Given the description of an element on the screen output the (x, y) to click on. 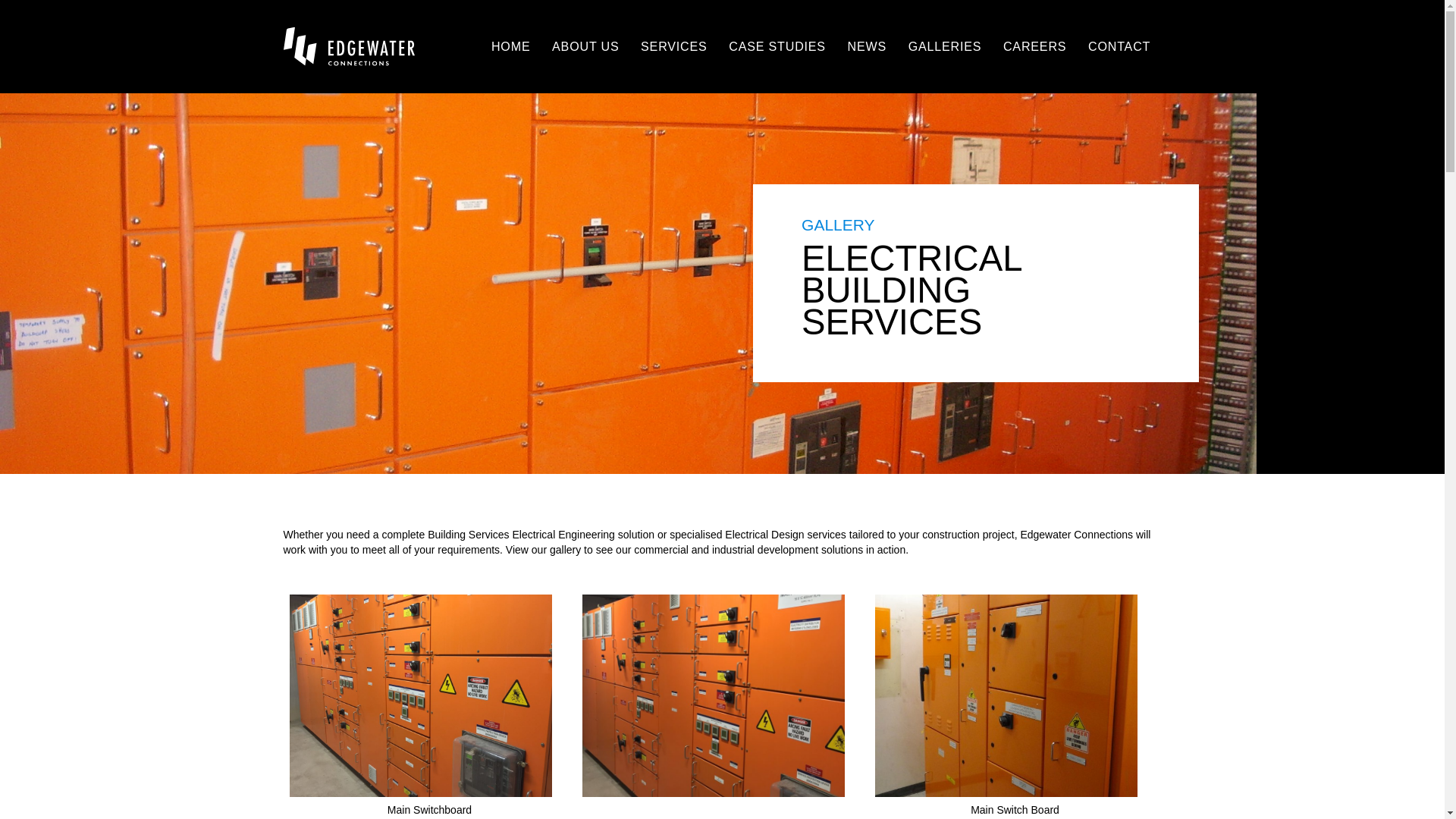
GALLERIES Element type: text (944, 46)
NEWS Element type: text (866, 46)
CONTACT Element type: text (1119, 46)
SERVICES Element type: text (674, 46)
CASE STUDIES Element type: text (777, 46)
HOME Element type: text (510, 46)
ABOUT US Element type: text (585, 46)
CAREERS Element type: text (1034, 46)
